Given the description of an element on the screen output the (x, y) to click on. 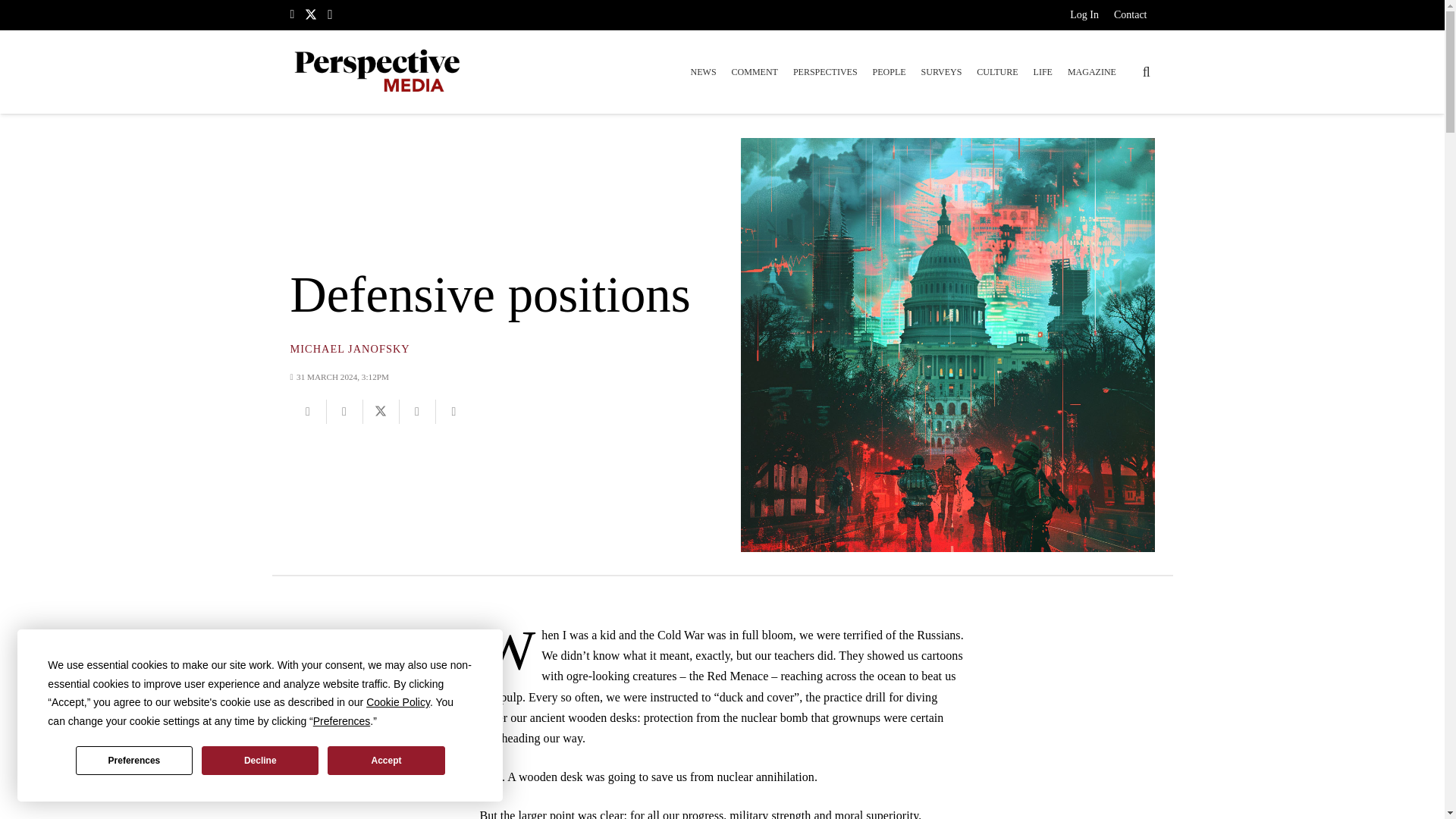
Accept (385, 759)
SURVEYS (941, 71)
Email this (307, 411)
CULTURE (997, 71)
MAGAZINE (1091, 71)
Decline (260, 759)
Share this (416, 411)
Twitter (310, 14)
LIFE (1042, 71)
MICHAEL JANOFSKY (349, 348)
